Given the description of an element on the screen output the (x, y) to click on. 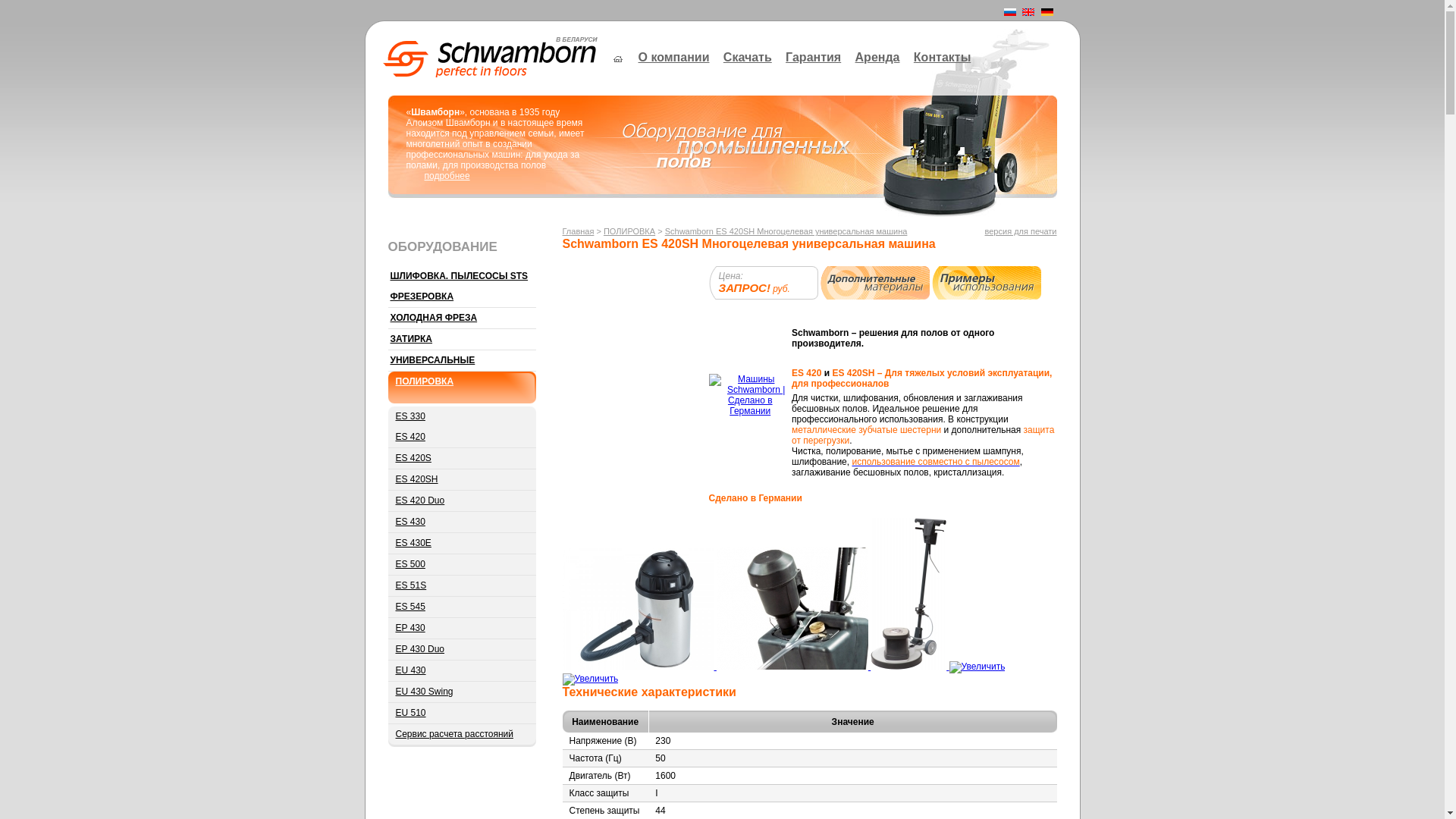
ES 545 Element type: text (462, 607)
EP 430 Duo Element type: text (462, 649)
ES 330 Element type: text (462, 416)
ES 420SH Element type: text (462, 479)
ES 420S Element type: text (462, 458)
ES 430E Element type: text (462, 543)
ES 500 Element type: text (462, 564)
EU 430 Element type: text (462, 670)
EP 430 Element type: text (462, 628)
ES 51S Element type: text (462, 585)
ES 420 Element type: text (462, 437)
ES 430 Element type: text (462, 522)
ES 420 Duo Element type: text (462, 500)
EU 430 Swing Element type: text (462, 691)
EU 510 Element type: text (462, 713)
